Given the description of an element on the screen output the (x, y) to click on. 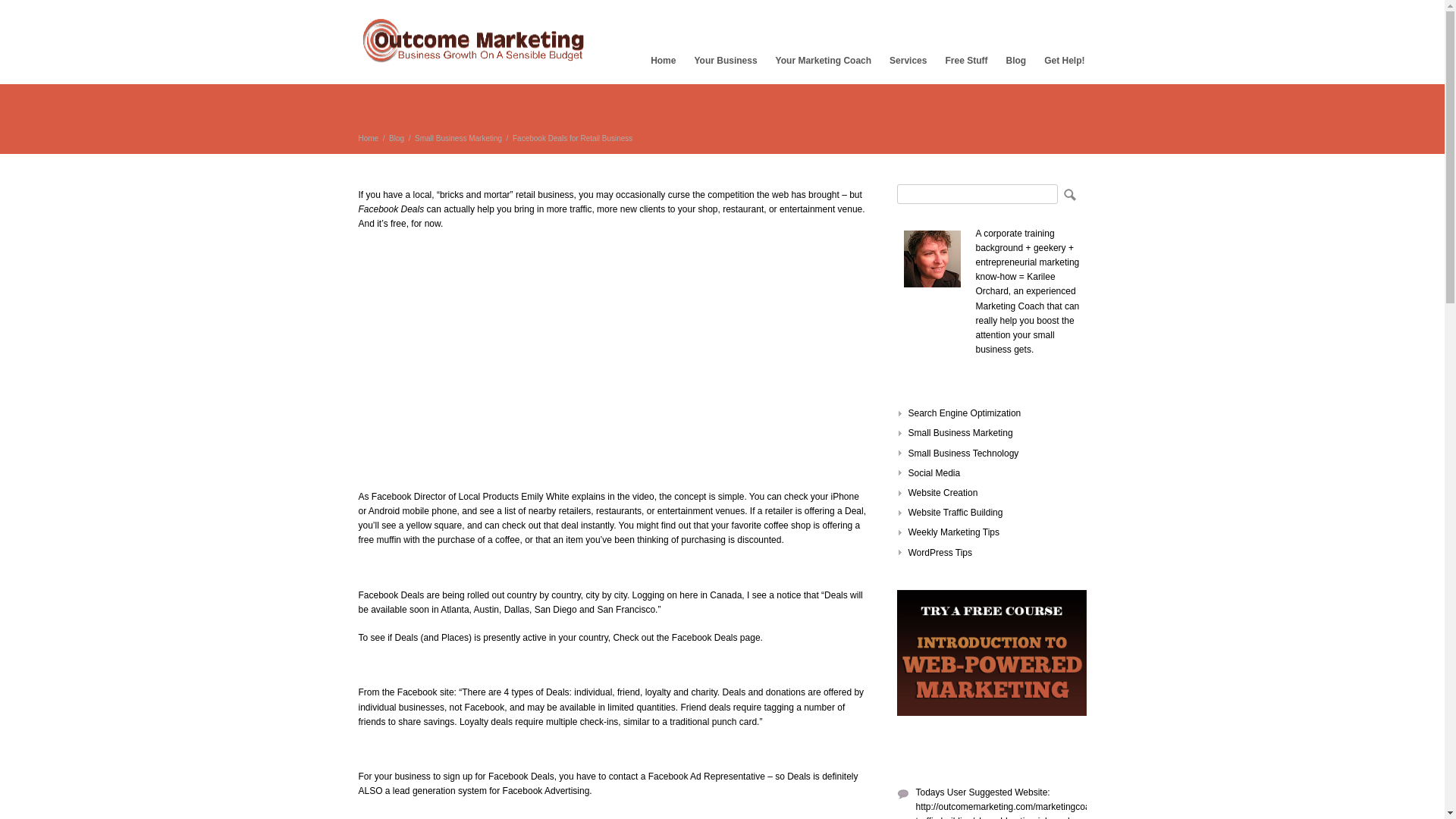
Blog (1015, 60)
Blog (396, 138)
Home (368, 138)
Get Help! (1064, 60)
Marketing Coach Karilee Orchard (932, 258)
Free Stuff (965, 60)
Your Marketing Coach (823, 60)
Search (1068, 194)
Home (662, 60)
Your Business (724, 60)
Search (1068, 194)
Small Business Marketing (458, 138)
Facebook deals explained (547, 337)
Free Introduction to Web-Powered Marketing Course (998, 727)
Marketing Coach (1009, 306)
